Given the description of an element on the screen output the (x, y) to click on. 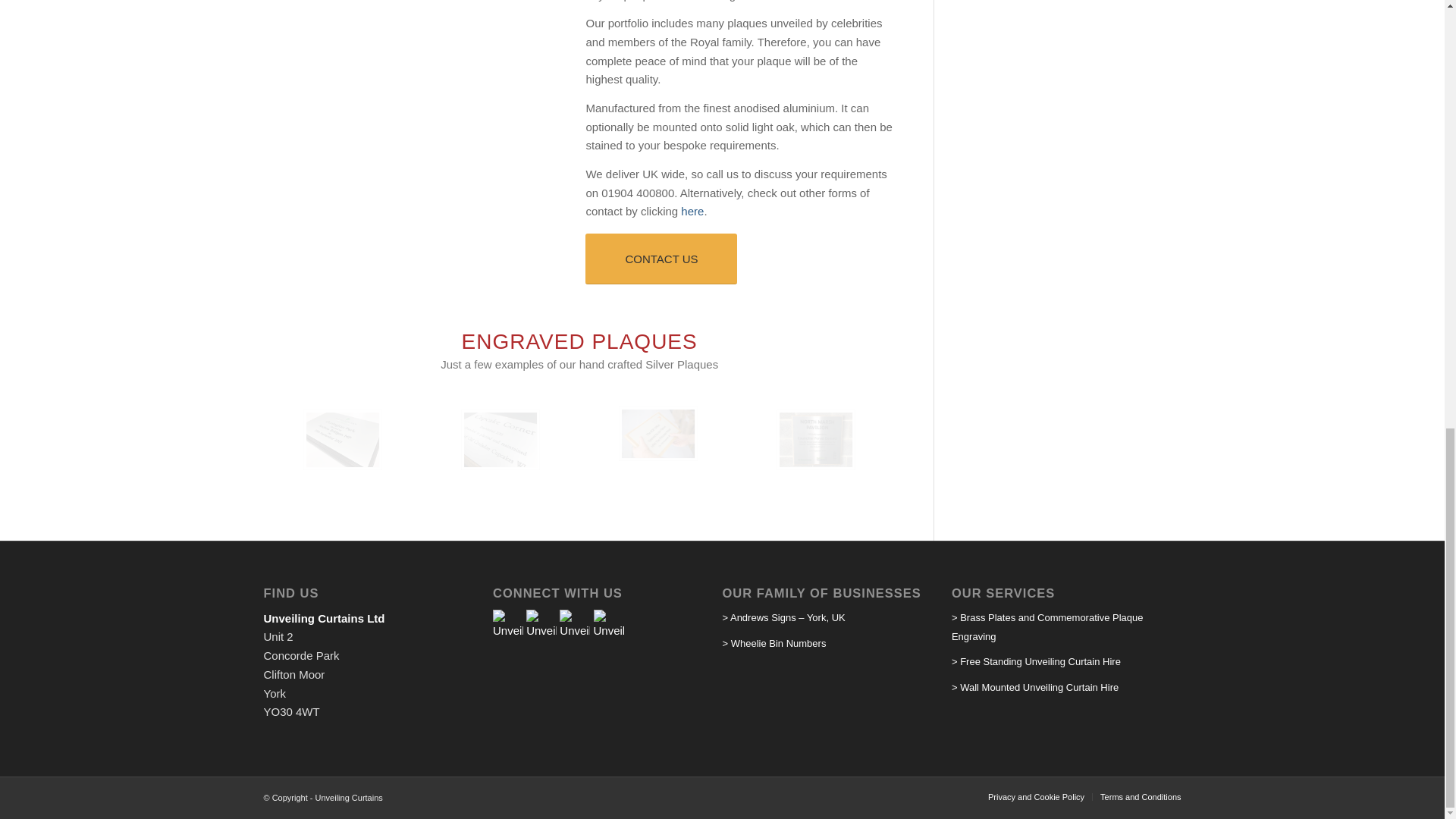
silver plaque (697, 460)
2 (418, 217)
here (692, 210)
3 (430, 217)
1 (406, 217)
silver plaque (539, 469)
silver plaque (381, 469)
CONTACT US (660, 258)
